Given the description of an element on the screen output the (x, y) to click on. 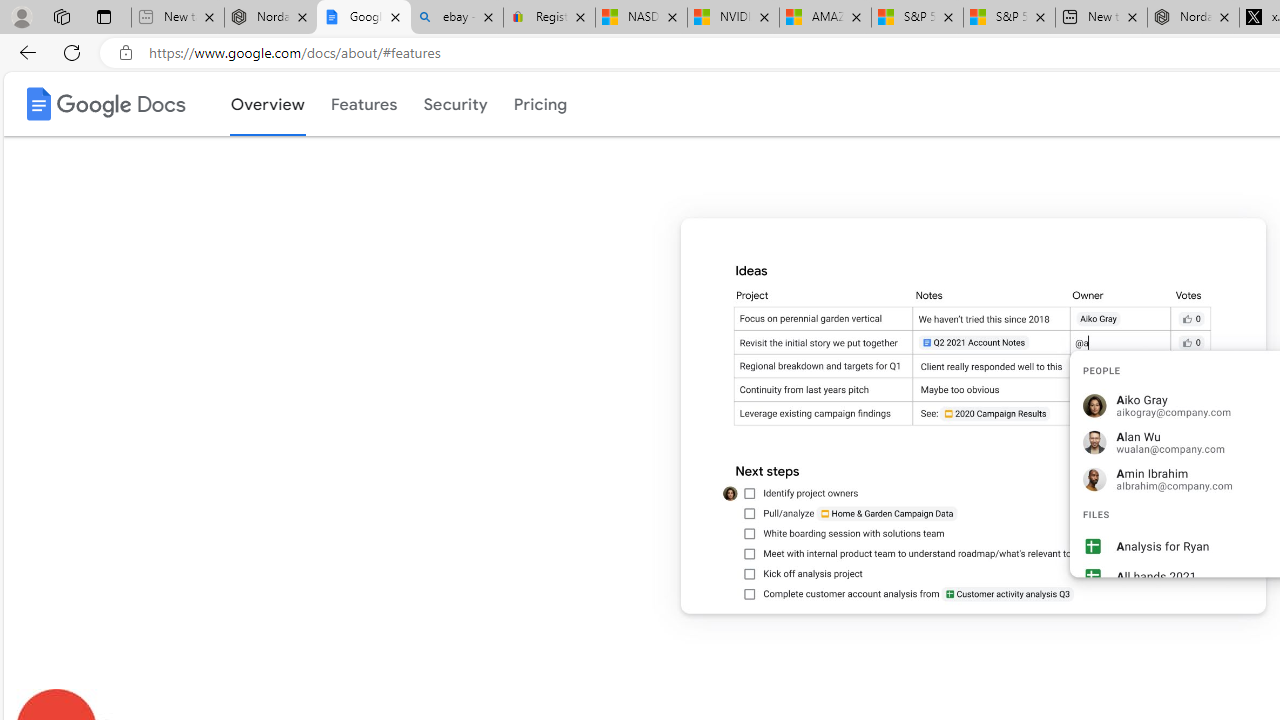
View site information (125, 53)
S&P 500, Nasdaq end lower, weighed by Nvidia dip | Watch (1008, 17)
Google Docs: Online Document Editor | Google Workspace (363, 17)
